Given the description of an element on the screen output the (x, y) to click on. 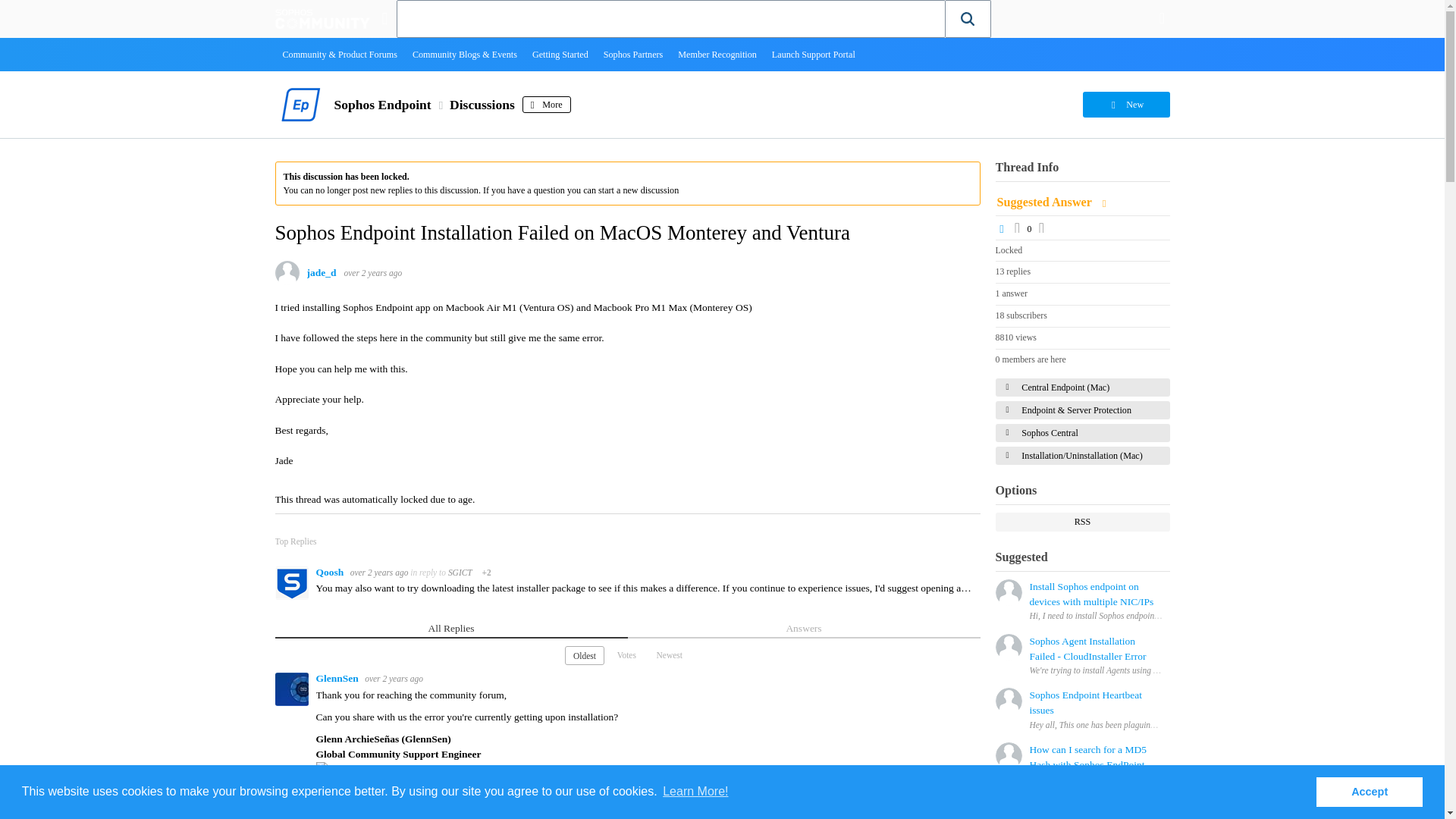
Groups (384, 18)
Getting Started (559, 54)
Member Recognition (716, 54)
Insert a query. Press enter to send (670, 18)
Home (322, 18)
Site (384, 18)
Launch Support Portal (813, 54)
Join or sign in (1161, 17)
User (1161, 17)
Sophos Partners (633, 54)
Accept (1369, 791)
Sophos Endpoint (381, 104)
Learn More! (695, 791)
Discussions (482, 104)
